Given the description of an element on the screen output the (x, y) to click on. 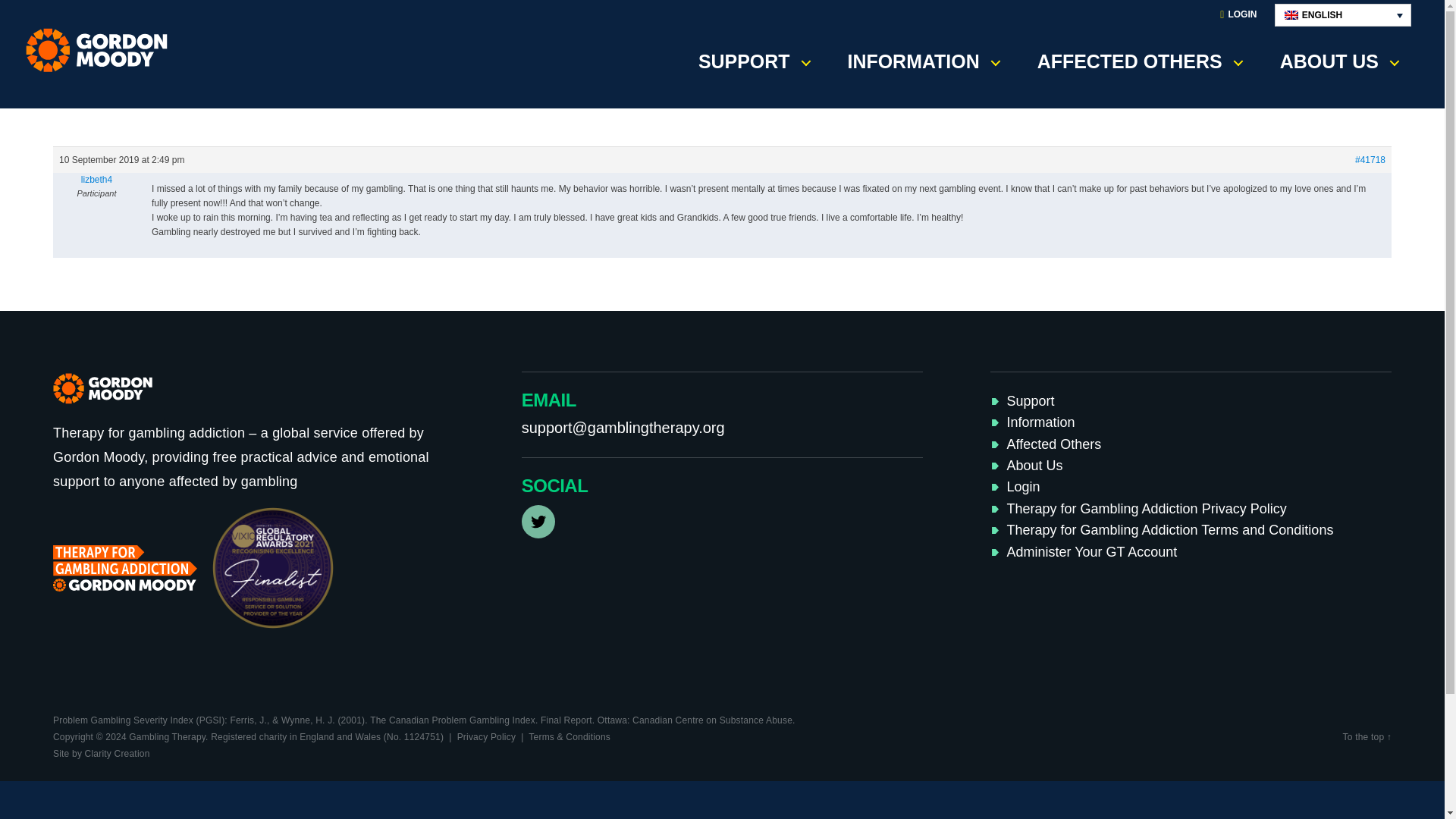
Gordon Moody (101, 50)
Visit the Clarity Creation website (100, 753)
View lizbeth4's profile (95, 179)
LOGIN (1238, 15)
ENGLISH (1342, 15)
